Given the description of an element on the screen output the (x, y) to click on. 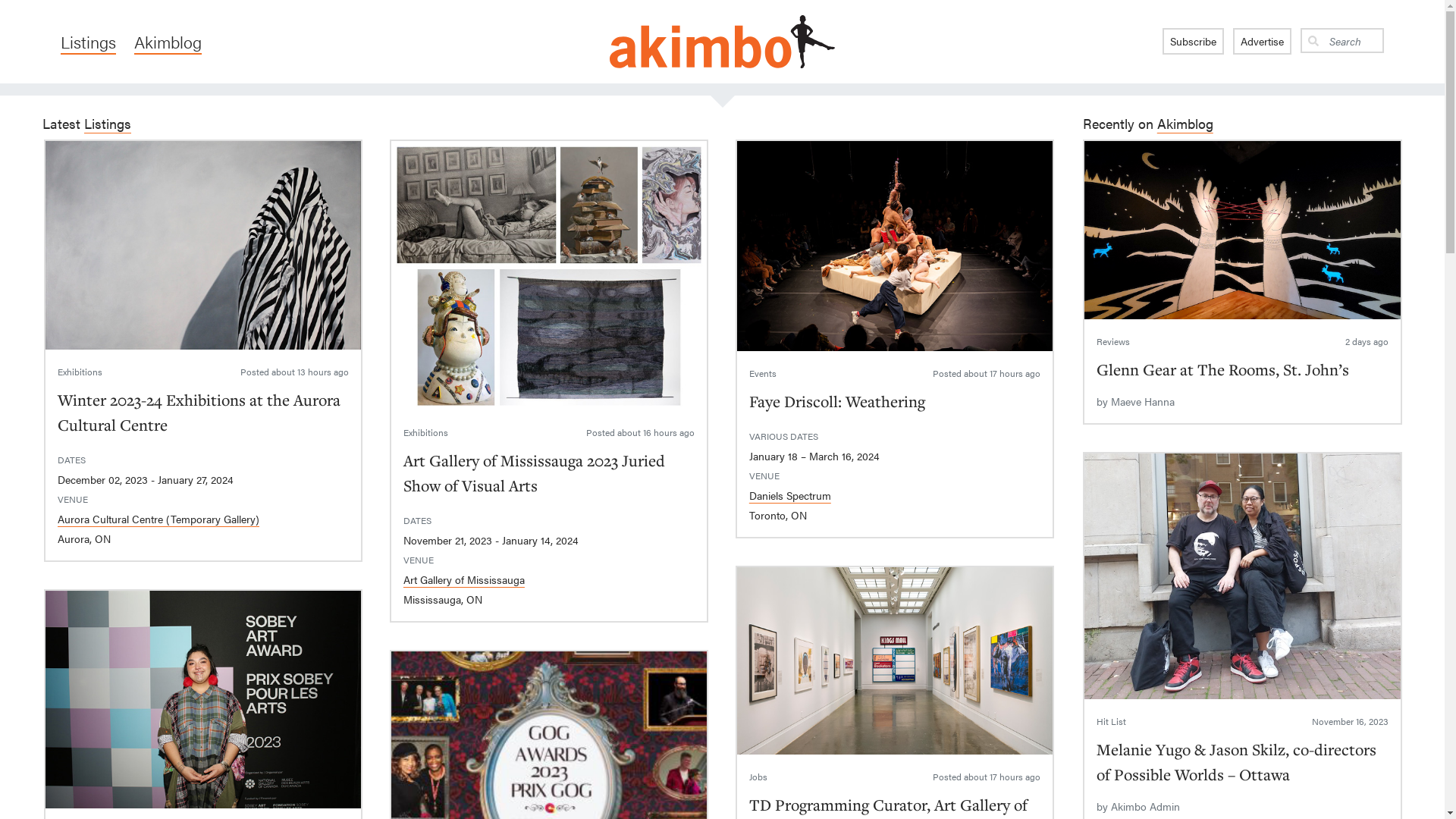
Listings Element type: text (88, 41)
Art Gallery of Mississauga 2023 Juried Show of Visual Arts Element type: text (534, 472)
1 Element type: hover (202, 699)
Advertise Element type: text (1262, 41)
Aurora Cultural Centre (Temporary Gallery) Element type: text (158, 518)
Hit List Element type: text (1111, 721)
1 Element type: hover (1242, 230)
Exhibitions Element type: text (79, 371)
1 Element type: hover (202, 245)
Akimblog Element type: text (167, 41)
Events Element type: text (762, 372)
Listings Element type: text (107, 122)
Winter 2023-24 Exhibitions at the Aurora Cultural Centre Element type: text (198, 412)
Art Gallery of Mississauga Element type: text (463, 578)
Faye Driscoll: Weathering Element type: text (837, 400)
https://galeries-ontario-galleries.ca/awards-2023/  Element type: hover (548, 780)
Akimblog Element type: text (1185, 122)
Subscribe Element type: text (1192, 41)
1 Element type: hover (894, 246)
Reviews Element type: text (1112, 341)
1 Element type: hover (1242, 576)
1 Element type: hover (894, 660)
Jobs Element type: text (758, 776)
Daniels Spectrum Element type: text (790, 494)
Exhibitions Element type: text (425, 432)
1 Element type: hover (548, 276)
